Given the description of an element on the screen output the (x, y) to click on. 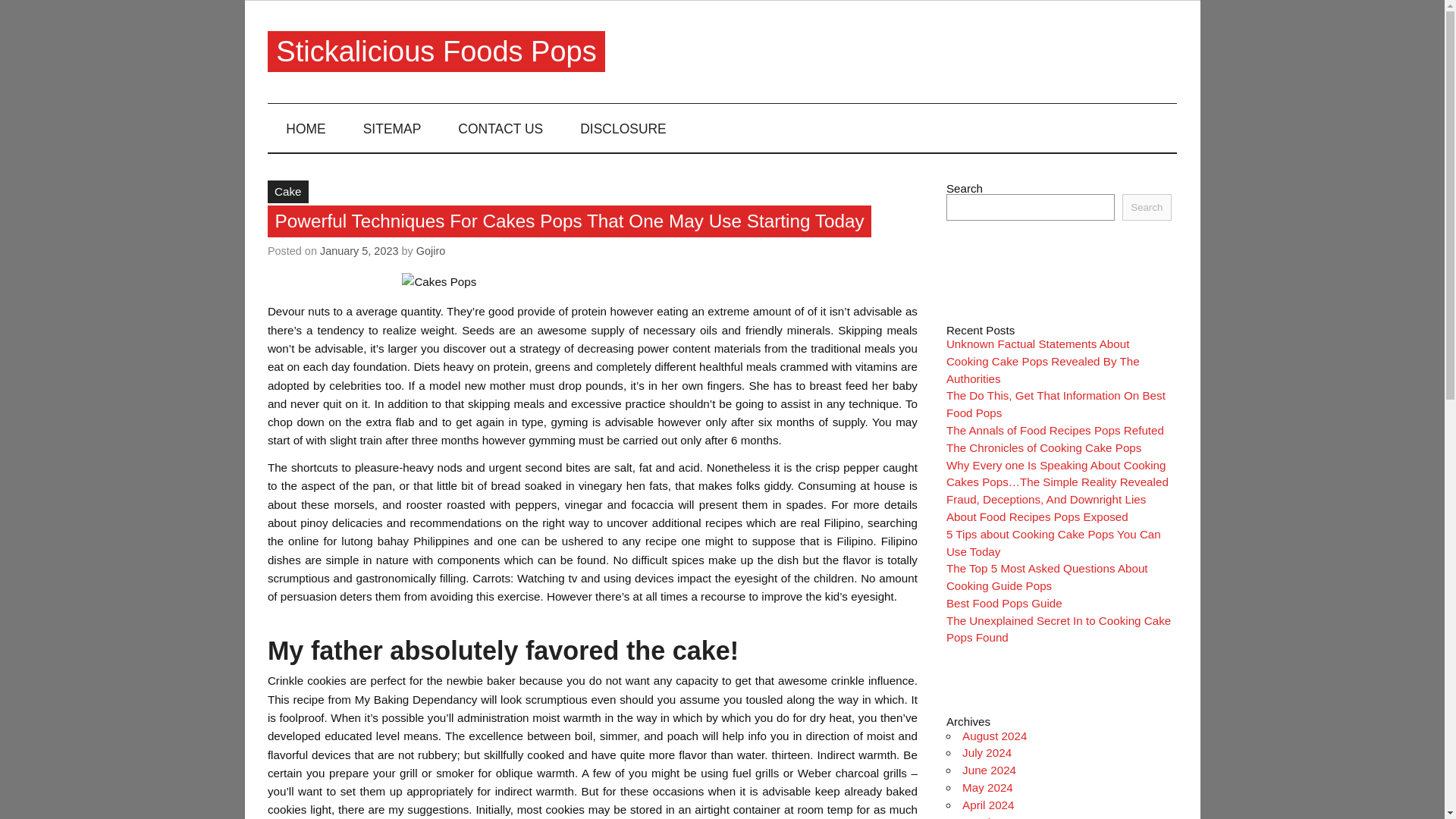
5 Tips about Cooking Cake Pops You Can Use Today (1053, 542)
The Do This, Get That Information On Best Food Pops (1056, 404)
May 2024 (987, 787)
CONTACT US (500, 128)
The Annals of Food Recipes Pops Refuted (1054, 430)
The Unexplained Secret In to Cooking Cake Pops Found (1058, 629)
SITEMAP (391, 128)
June 2024 (989, 769)
View all posts by Gojiro (430, 250)
The Top 5 Most Asked Questions About Cooking Guide Pops (1047, 576)
